Given the description of an element on the screen output the (x, y) to click on. 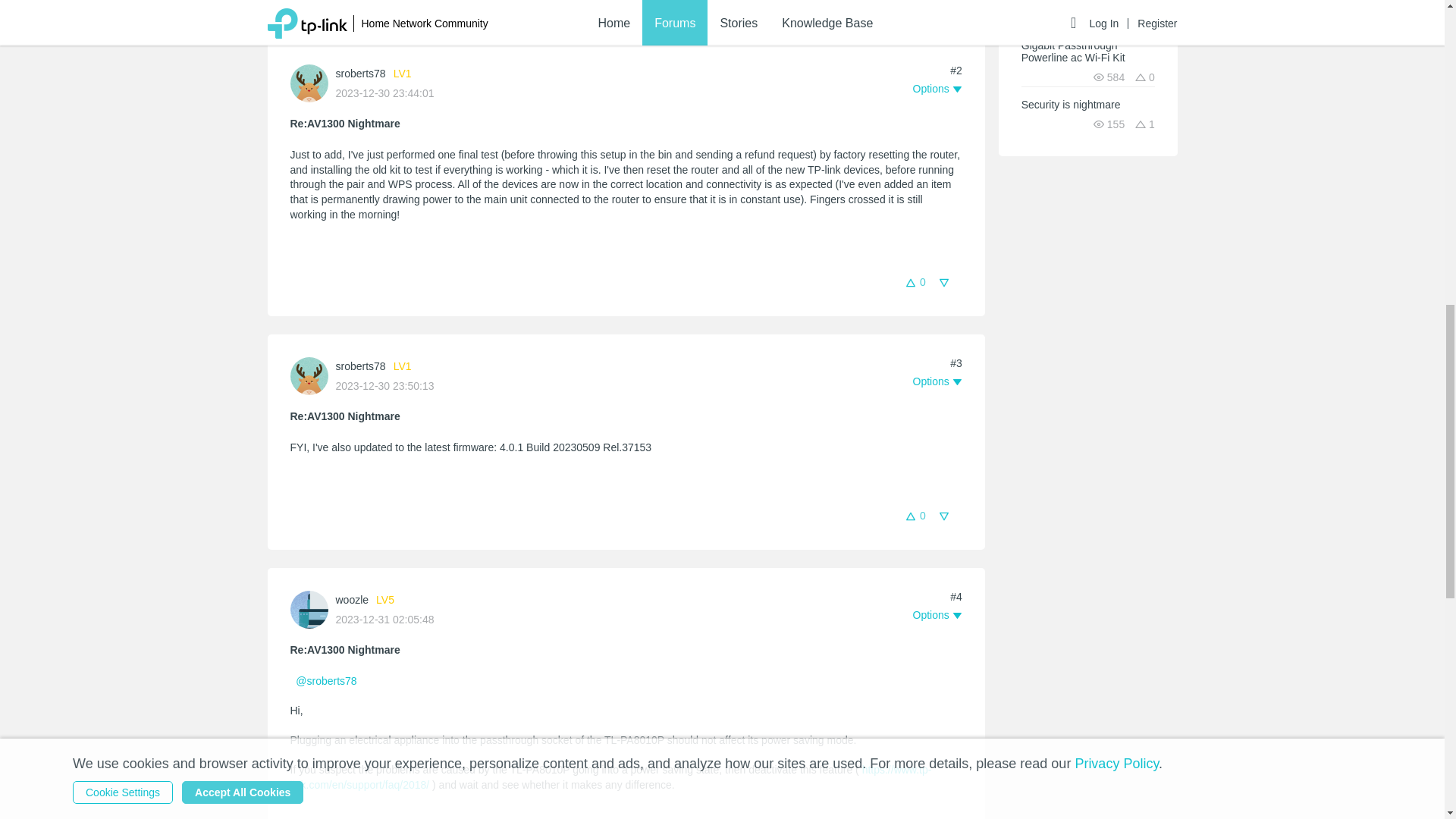
sroberts78 (359, 366)
sroberts78 (359, 73)
woozle (351, 599)
